Given the description of an element on the screen output the (x, y) to click on. 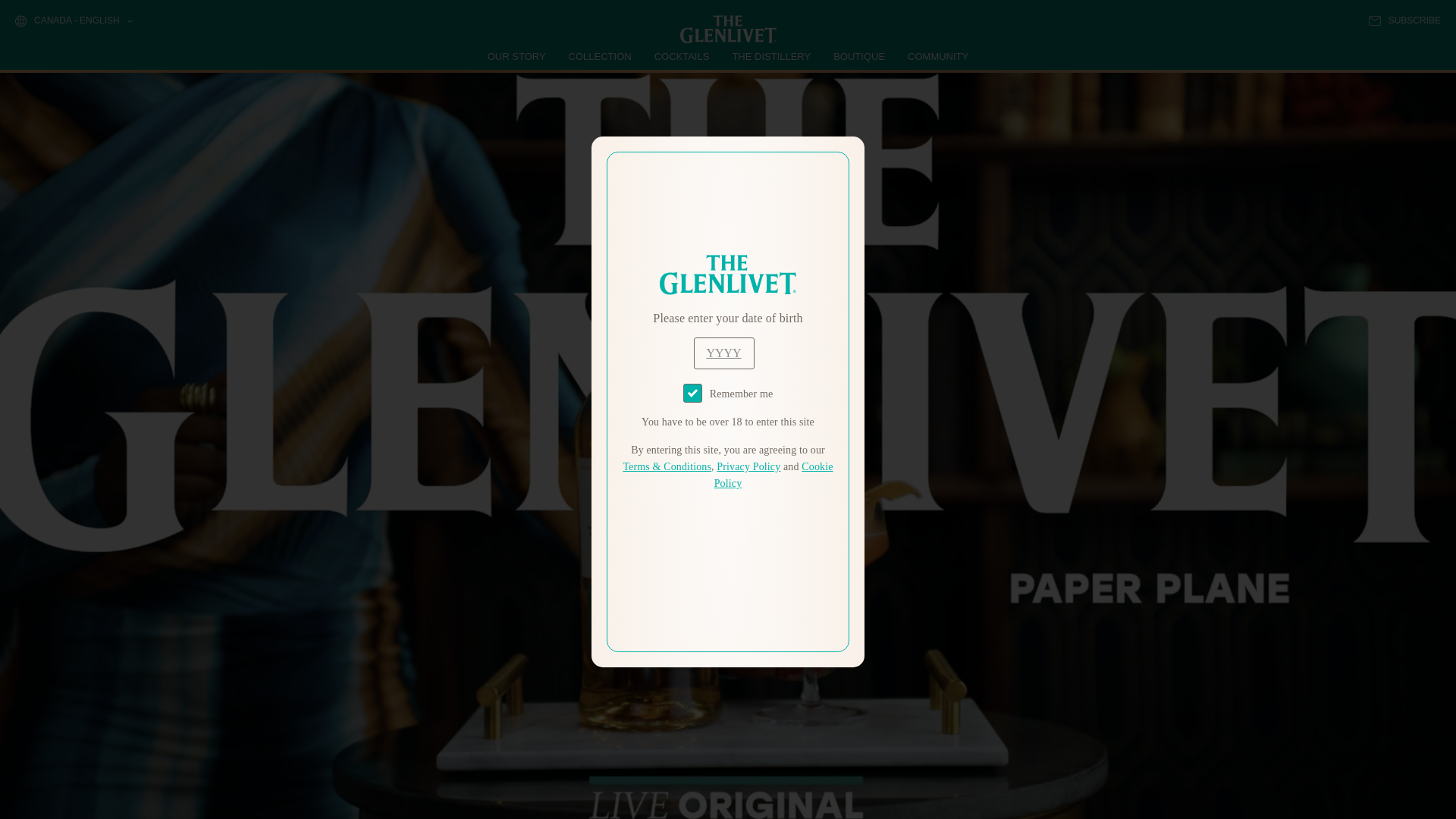
year (723, 353)
COCKTAILS (681, 56)
COMMUNITY (937, 56)
Cookie Policy (773, 474)
SUBSCRIBE (1404, 20)
BOUTIQUE (858, 56)
Privacy Policy (748, 466)
OUR STORY (516, 56)
CANADA - ENGLISH (73, 21)
COLLECTION (600, 56)
